Given the description of an element on the screen output the (x, y) to click on. 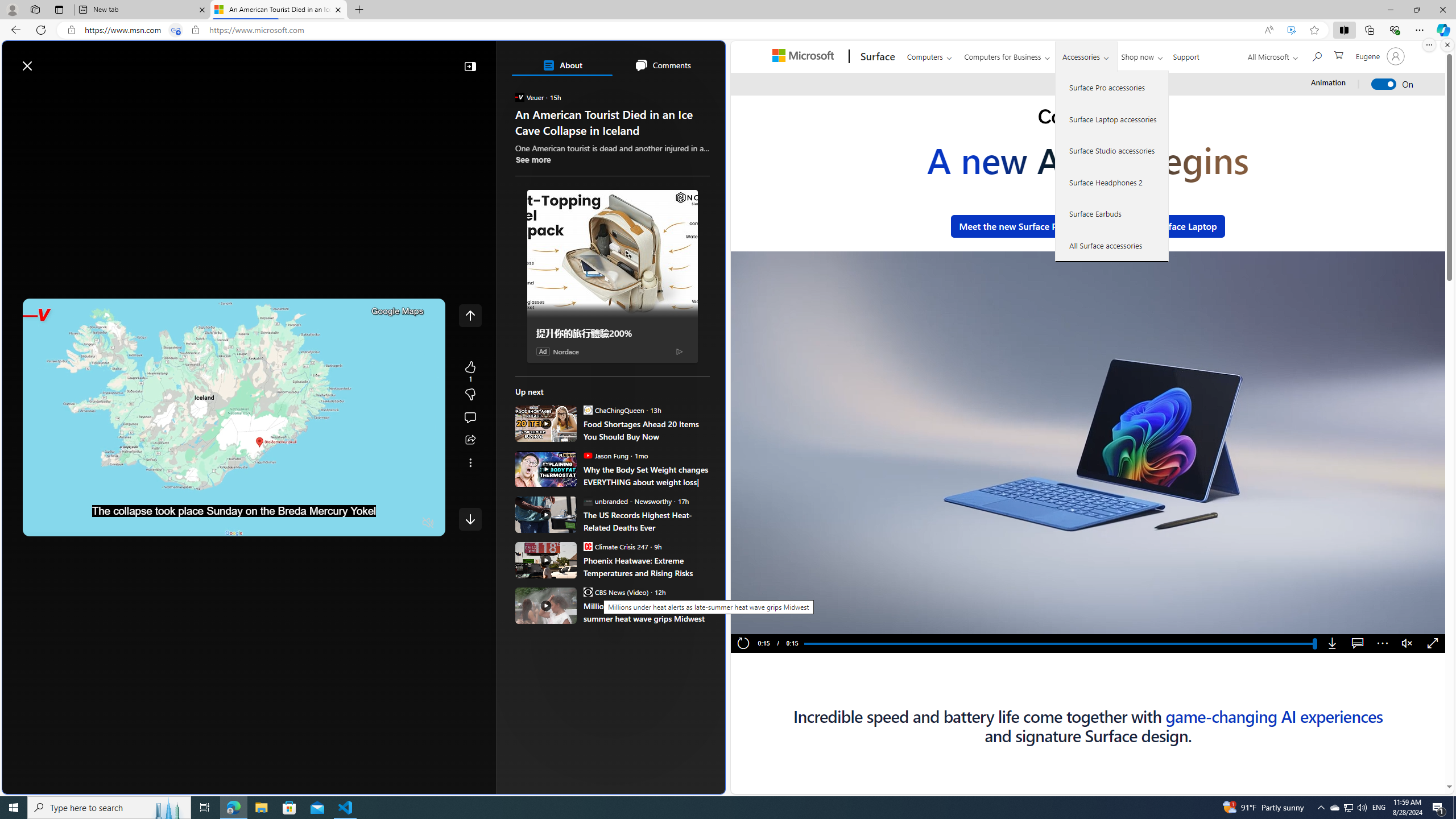
ABC News (554, 415)
Share this story (469, 440)
More like this1Fewer like thisStart the conversation (469, 394)
Surface Pro accessories (1112, 87)
Enhance video (1291, 29)
